Given the description of an element on the screen output the (x, y) to click on. 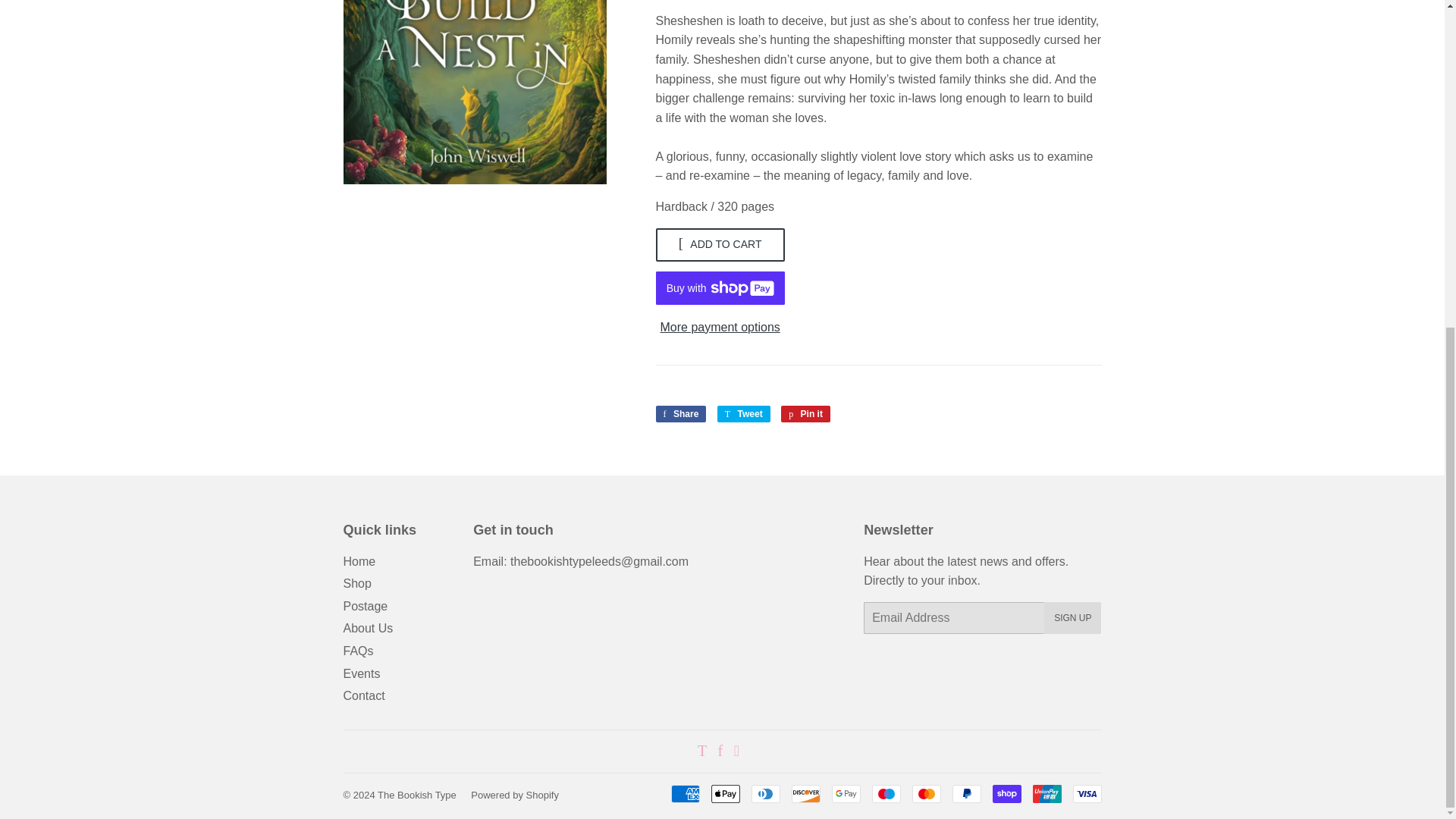
FAQs (357, 650)
Events (680, 413)
Share on Facebook (361, 673)
Postage (680, 413)
PayPal (364, 605)
American Express (966, 793)
Google Pay (683, 793)
Discover (845, 793)
